Given the description of an element on the screen output the (x, y) to click on. 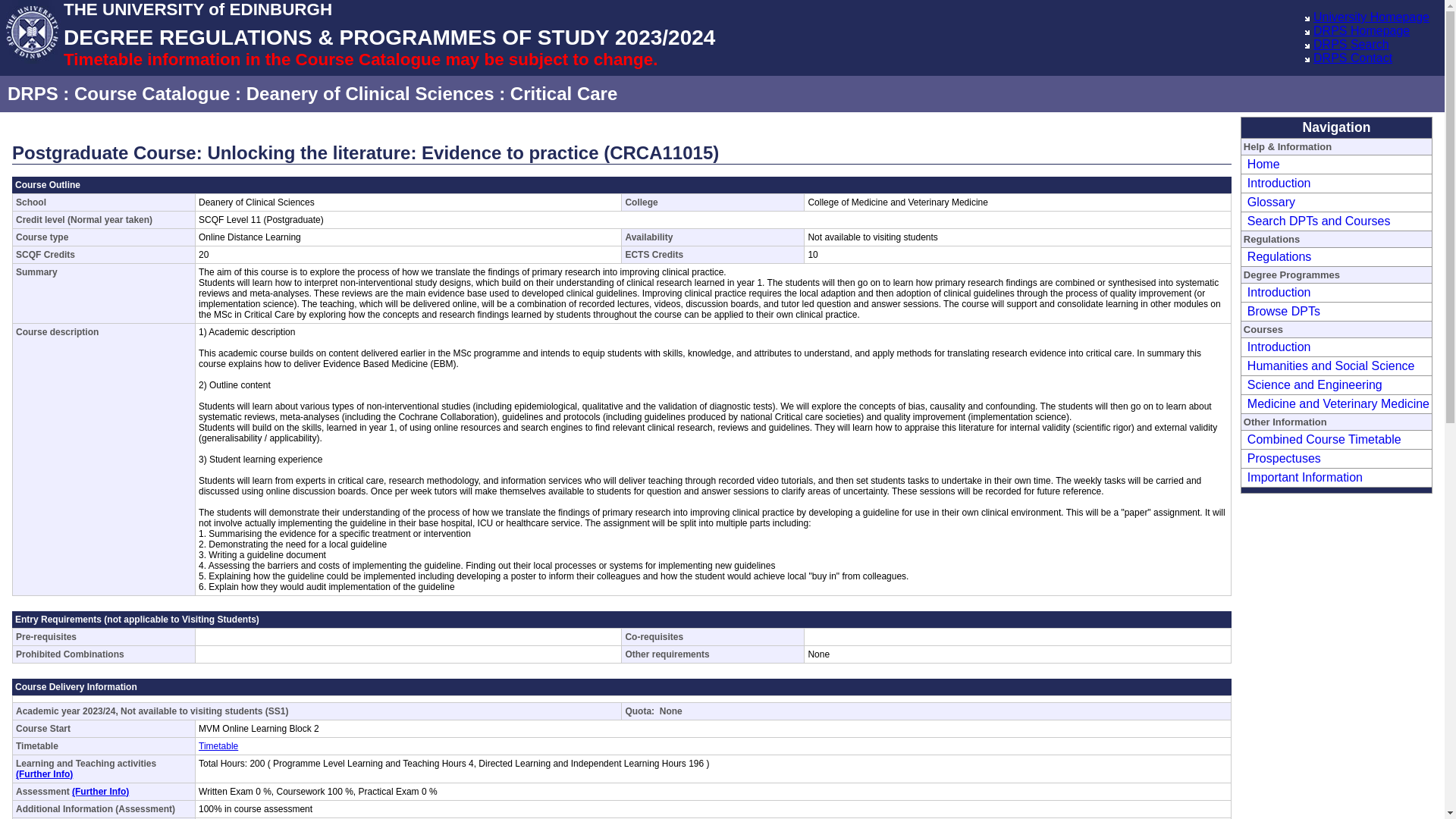
DRPS Contact (1352, 57)
Prospectuses (1281, 458)
DRPS (32, 93)
Critical Care (564, 93)
Deanery of Clinical Sciences (370, 93)
Combined Course Timetable (1321, 439)
University Homepage (1371, 16)
Timetable (218, 746)
Medicine and Veterinary Medicine (1336, 403)
Important Information (1302, 477)
Introduction (1277, 291)
Glossary (1269, 201)
Prospectuses (1281, 458)
Browse DPTs (1281, 310)
Home (1261, 164)
